Given the description of an element on the screen output the (x, y) to click on. 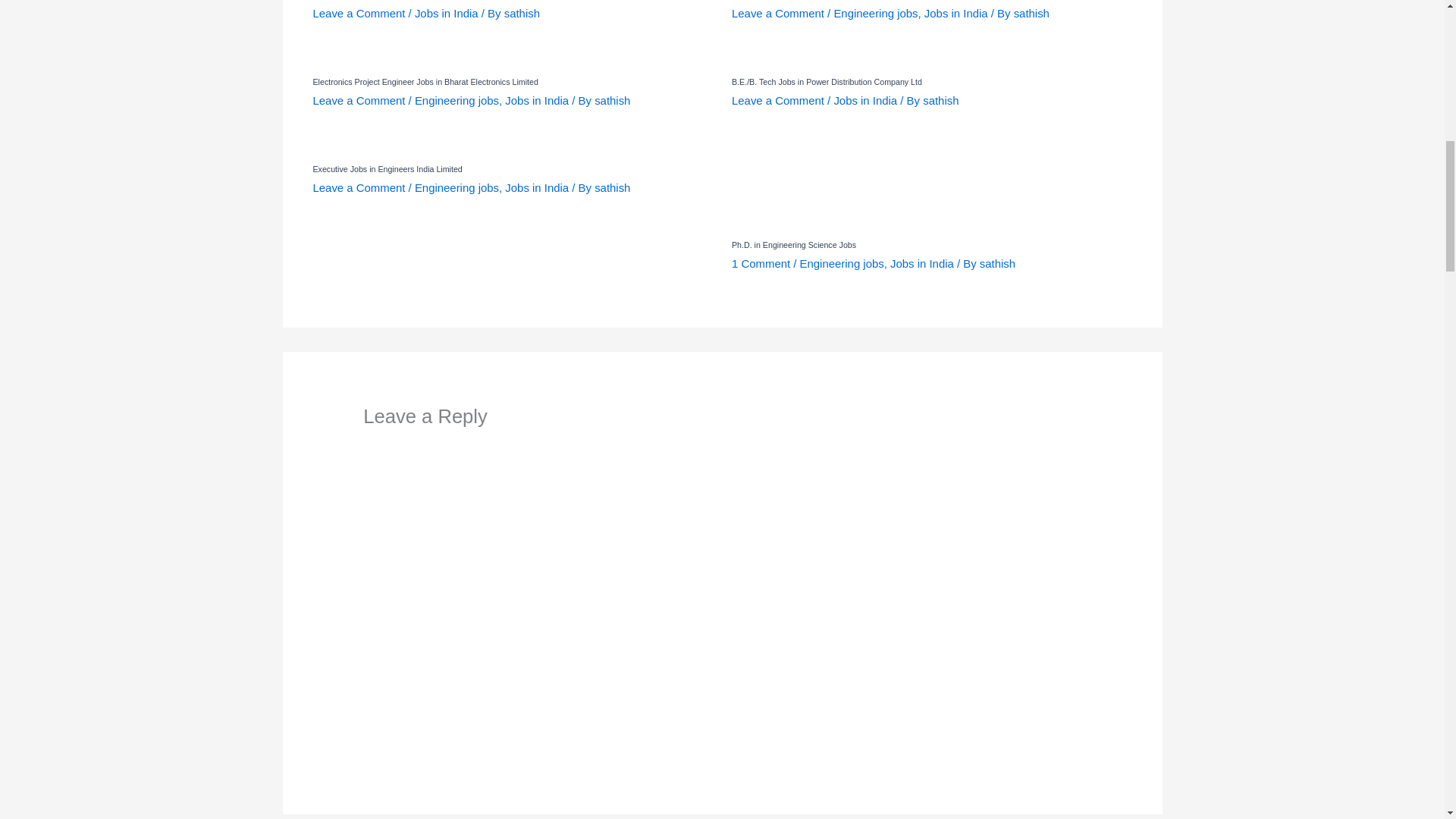
View all posts by sathish (940, 100)
View all posts by sathish (612, 100)
View all posts by sathish (996, 263)
Ph.D. in Engineering Science Jobs 1 (807, 191)
View all posts by sathish (1031, 12)
View all posts by sathish (521, 12)
View all posts by sathish (612, 187)
